Given the description of an element on the screen output the (x, y) to click on. 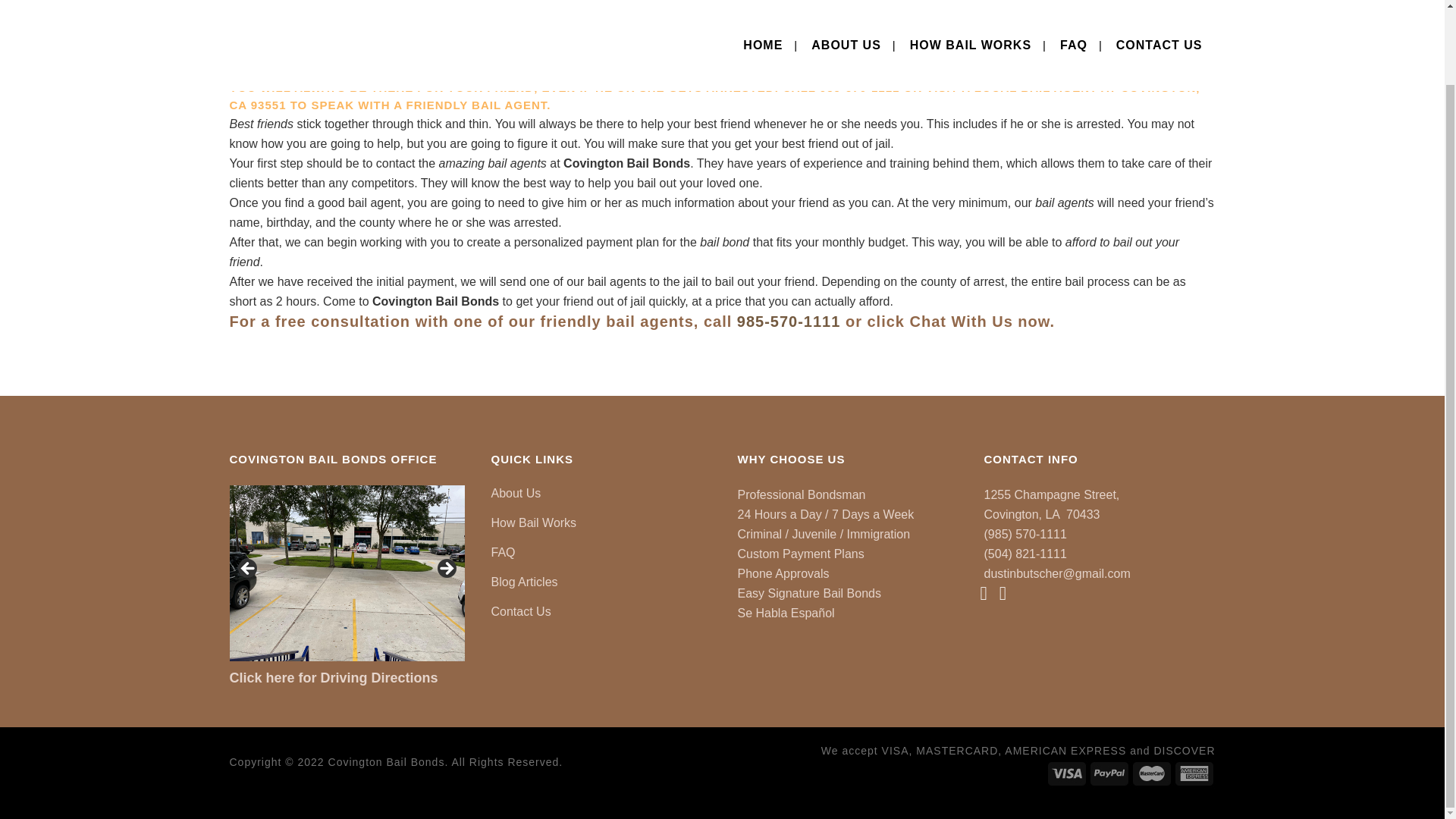
985-570-1111 (859, 87)
About Us (603, 493)
CONTACT US (1159, 3)
FAQ (1073, 3)
HOW BAIL WORKS (969, 3)
HOME (762, 3)
How Bail Works (603, 523)
985-570-1111 (788, 321)
covington-bailbonds2 (346, 573)
Click here for Driving Directions (333, 677)
ABOUT US (845, 3)
Contact Us (603, 611)
FAQ (603, 552)
Blog Articles (603, 582)
covington-bailbonds3 (114, 573)
